Given the description of an element on the screen output the (x, y) to click on. 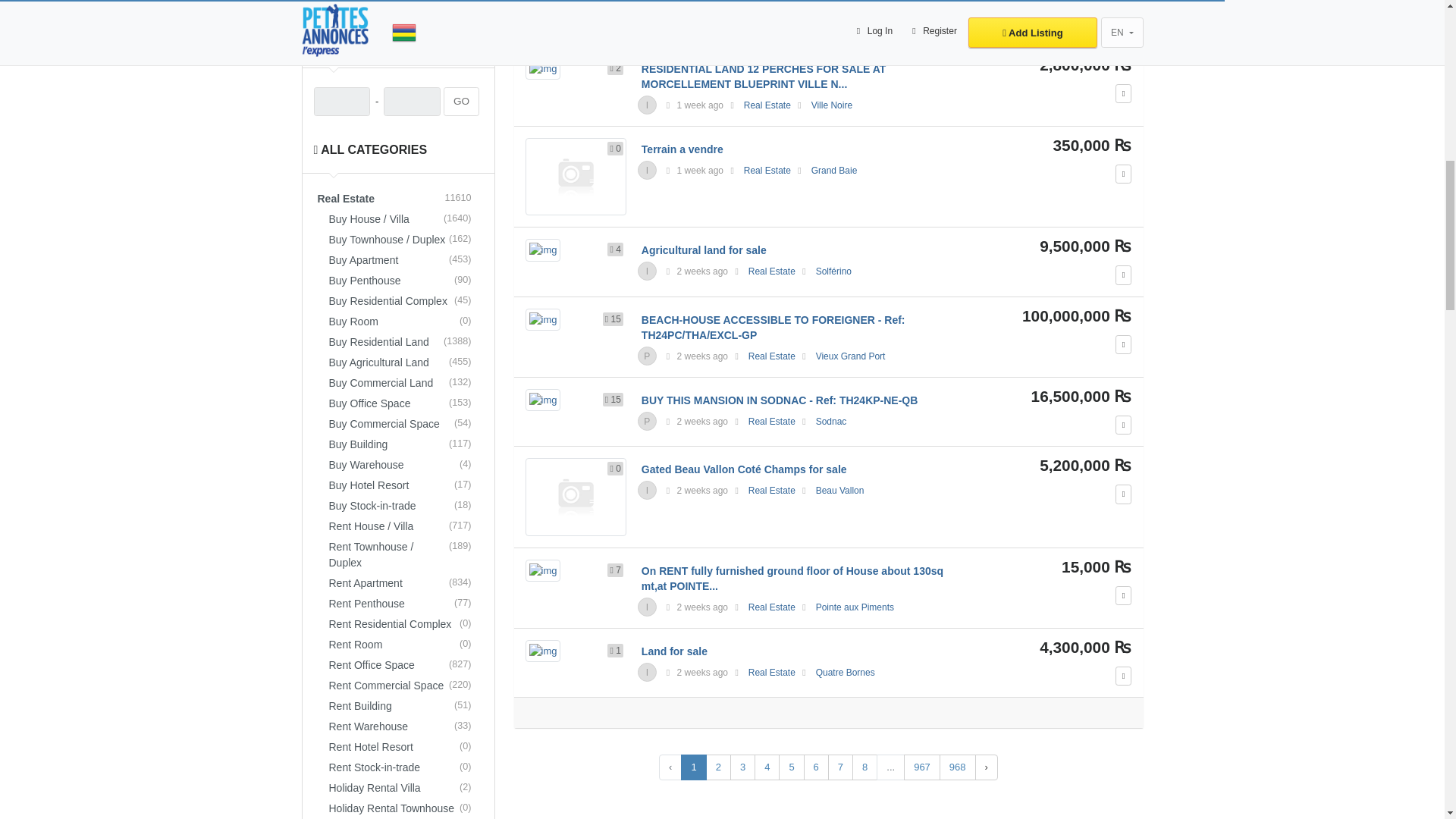
Buy Penthouse (402, 281)
Buy Office Space (402, 403)
Buy Apartment (402, 260)
Buy Hotel Resort (402, 485)
Buy Residential Complex (402, 301)
Buy Agricultural Land (402, 362)
Real Estate (398, 199)
Buy Residential Land (402, 342)
Buy Room (402, 322)
